Given the description of an element on the screen output the (x, y) to click on. 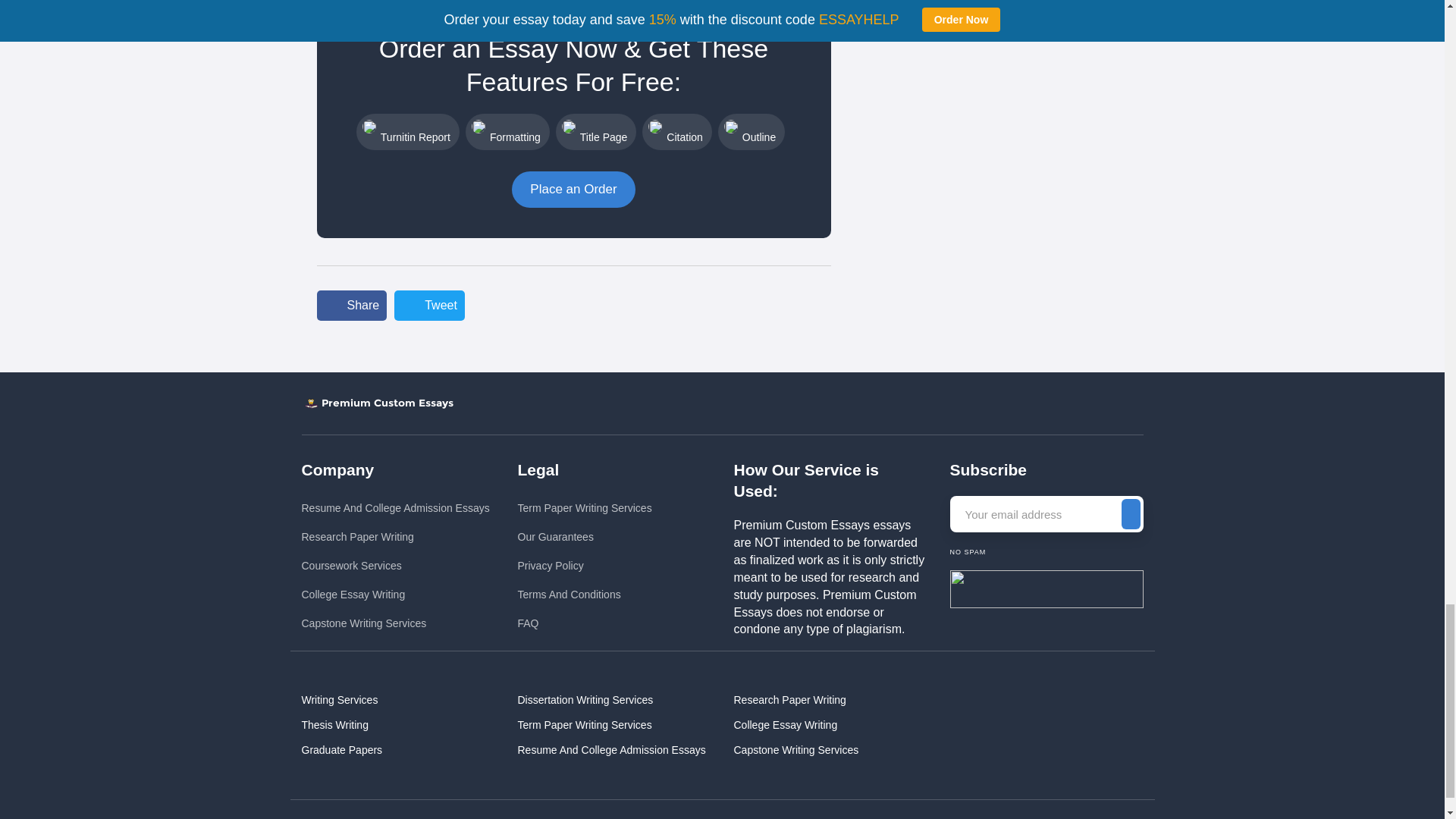
College Essay Writing (395, 594)
Research Paper Writing (395, 536)
Tweet (429, 305)
Place an Order (573, 189)
Our Guarantees (583, 536)
Term Paper Writing Services (583, 508)
Share (352, 305)
Resume And College Admission Essays (395, 508)
Capstone Writing Services (395, 623)
Coursework Services (395, 565)
